Given the description of an element on the screen output the (x, y) to click on. 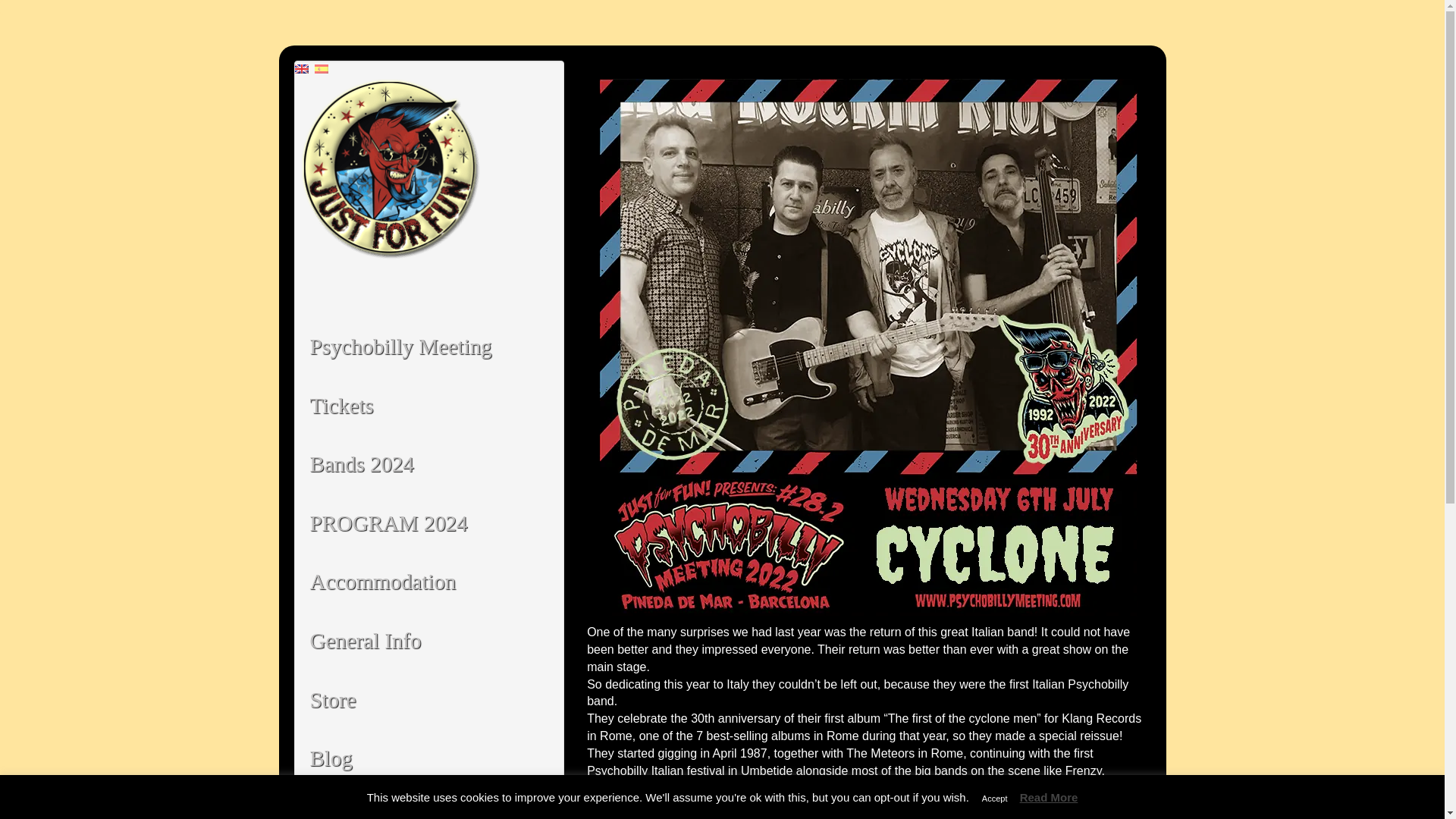
General Info (428, 640)
Psychobilly Meeting (428, 346)
Bands 2024 (428, 464)
Tickets (428, 405)
Accommodation (428, 581)
PROGRAM 2024 (428, 523)
